Given the description of an element on the screen output the (x, y) to click on. 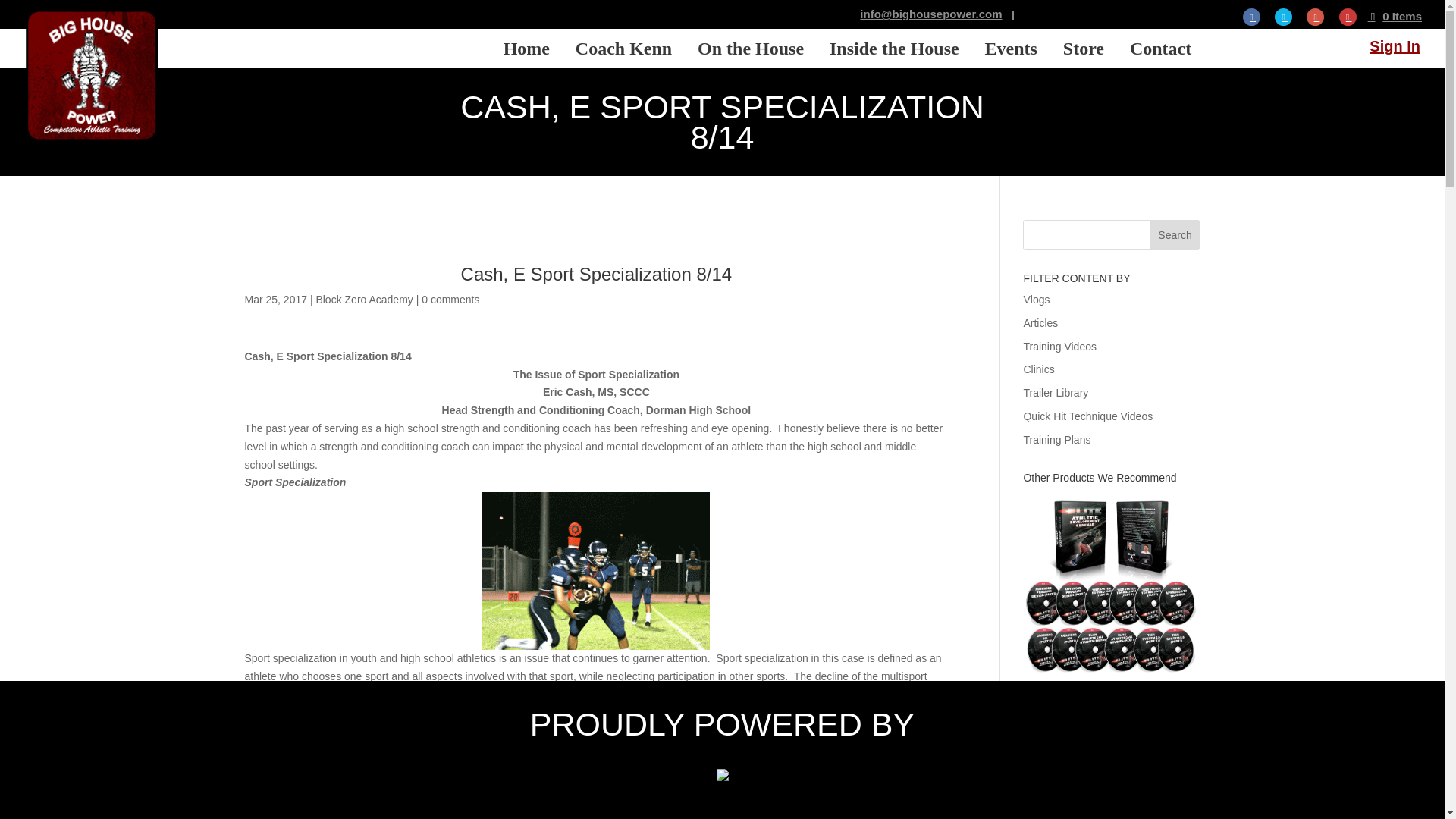
On the House (750, 47)
0 Items (1395, 15)
Clinics (1038, 369)
Sign In (1395, 45)
Search (1174, 235)
Coach Kenn (623, 47)
Training Videos (1059, 346)
Vlogs (1036, 299)
Articles (1040, 322)
0 comments (450, 299)
